Given the description of an element on the screen output the (x, y) to click on. 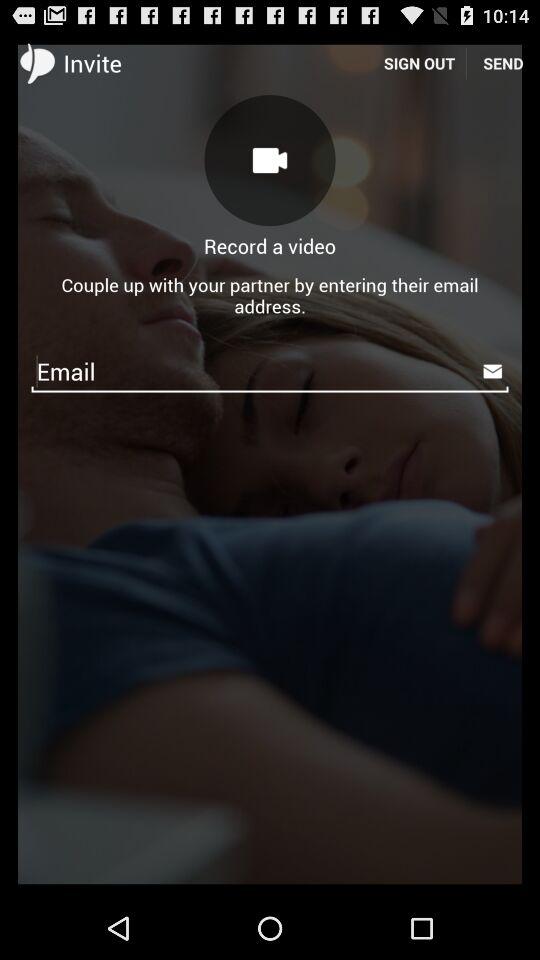
choose the icon next to sign out item (503, 62)
